Given the description of an element on the screen output the (x, y) to click on. 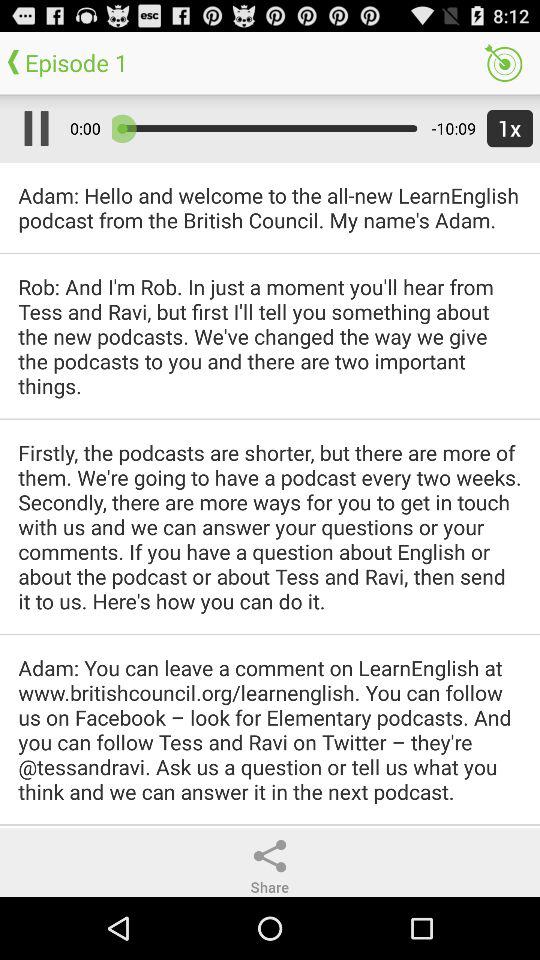
pauses the audio playback (32, 128)
